Given the description of an element on the screen output the (x, y) to click on. 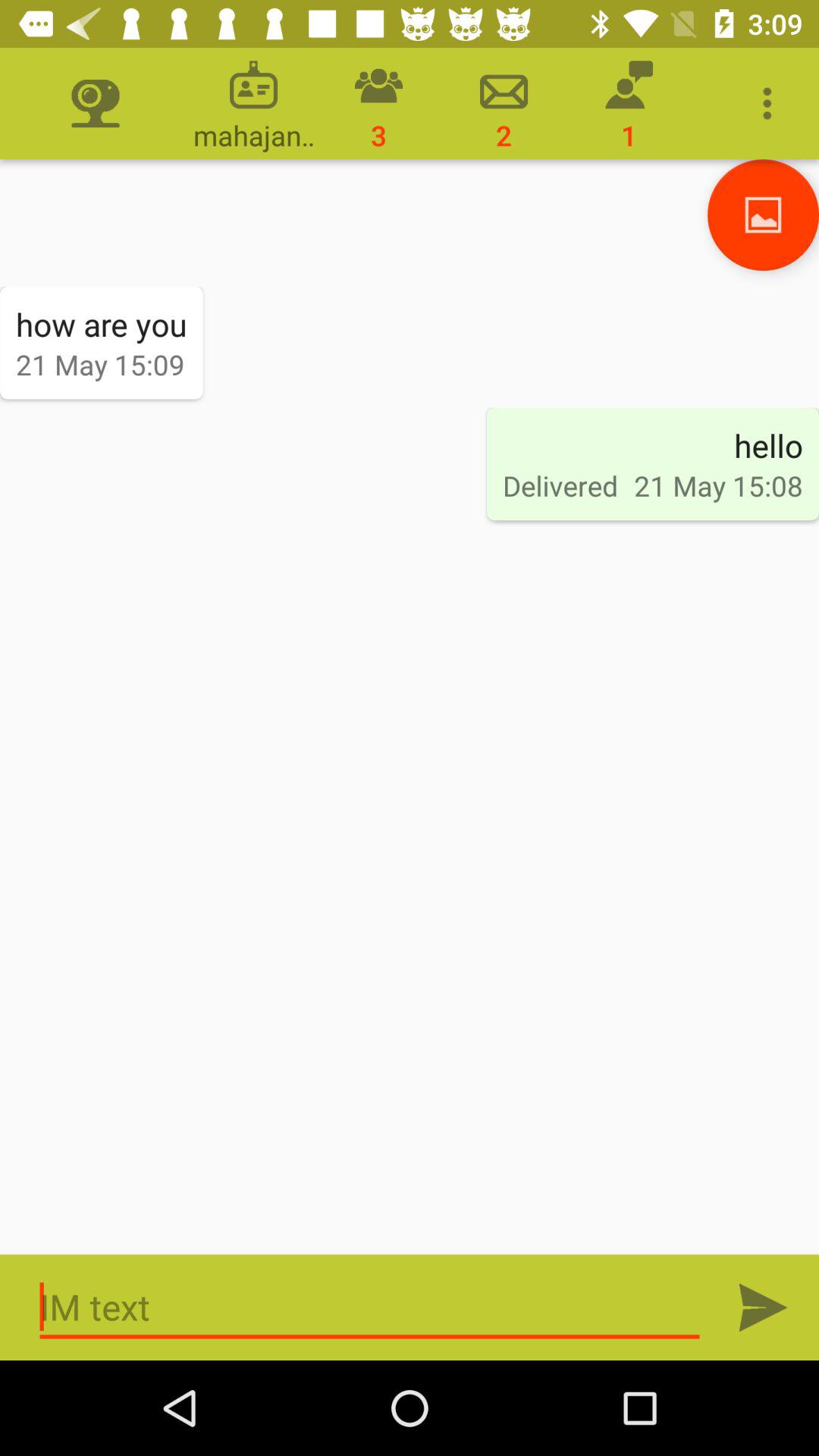
sent option (763, 1307)
